Given the description of an element on the screen output the (x, y) to click on. 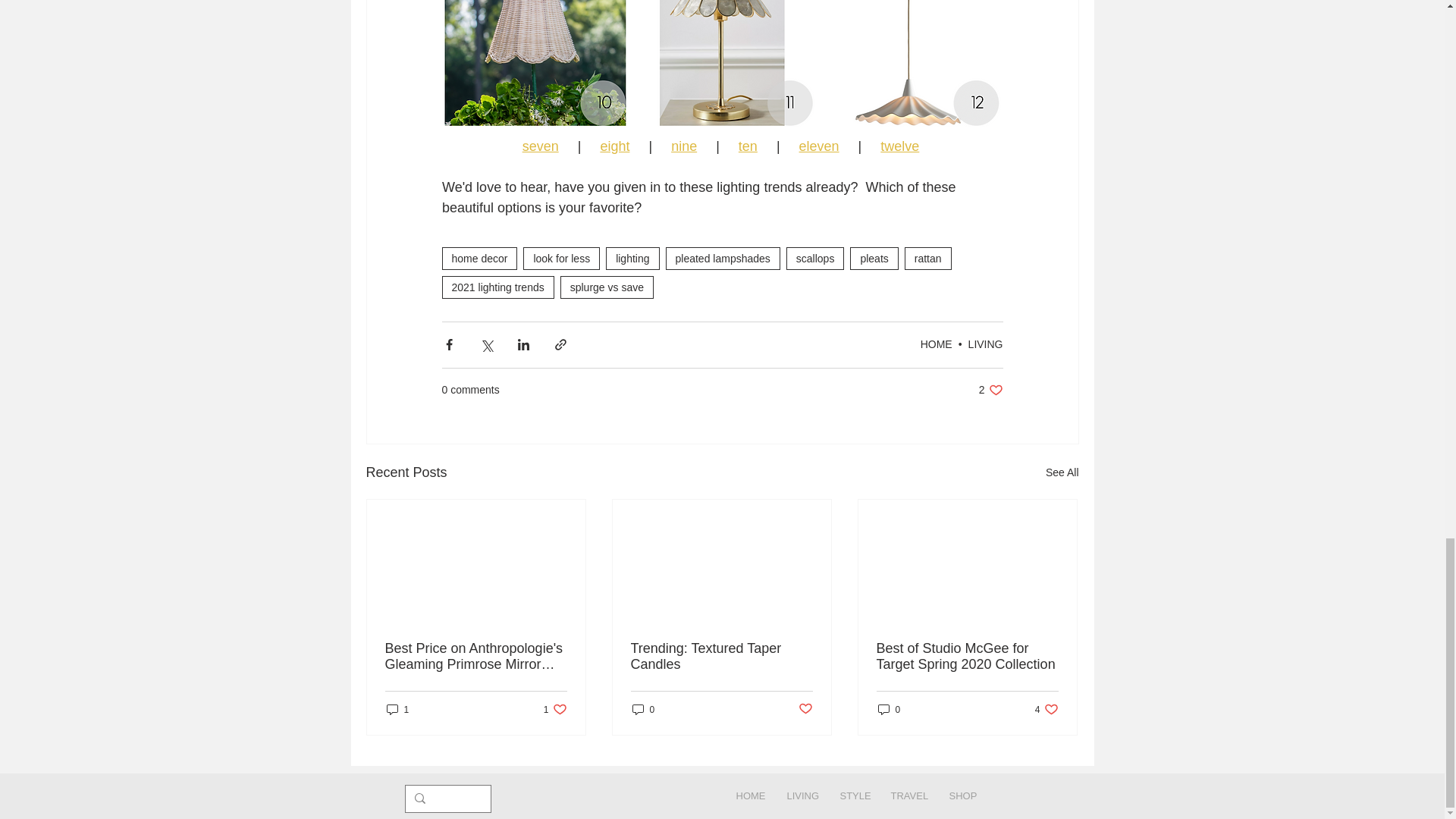
twelve (899, 145)
seven (539, 145)
nine (684, 145)
eight (613, 145)
pleats (874, 258)
eleven (817, 145)
lighting (632, 258)
rattan (928, 258)
ten (747, 145)
home decor (478, 258)
